Given the description of an element on the screen output the (x, y) to click on. 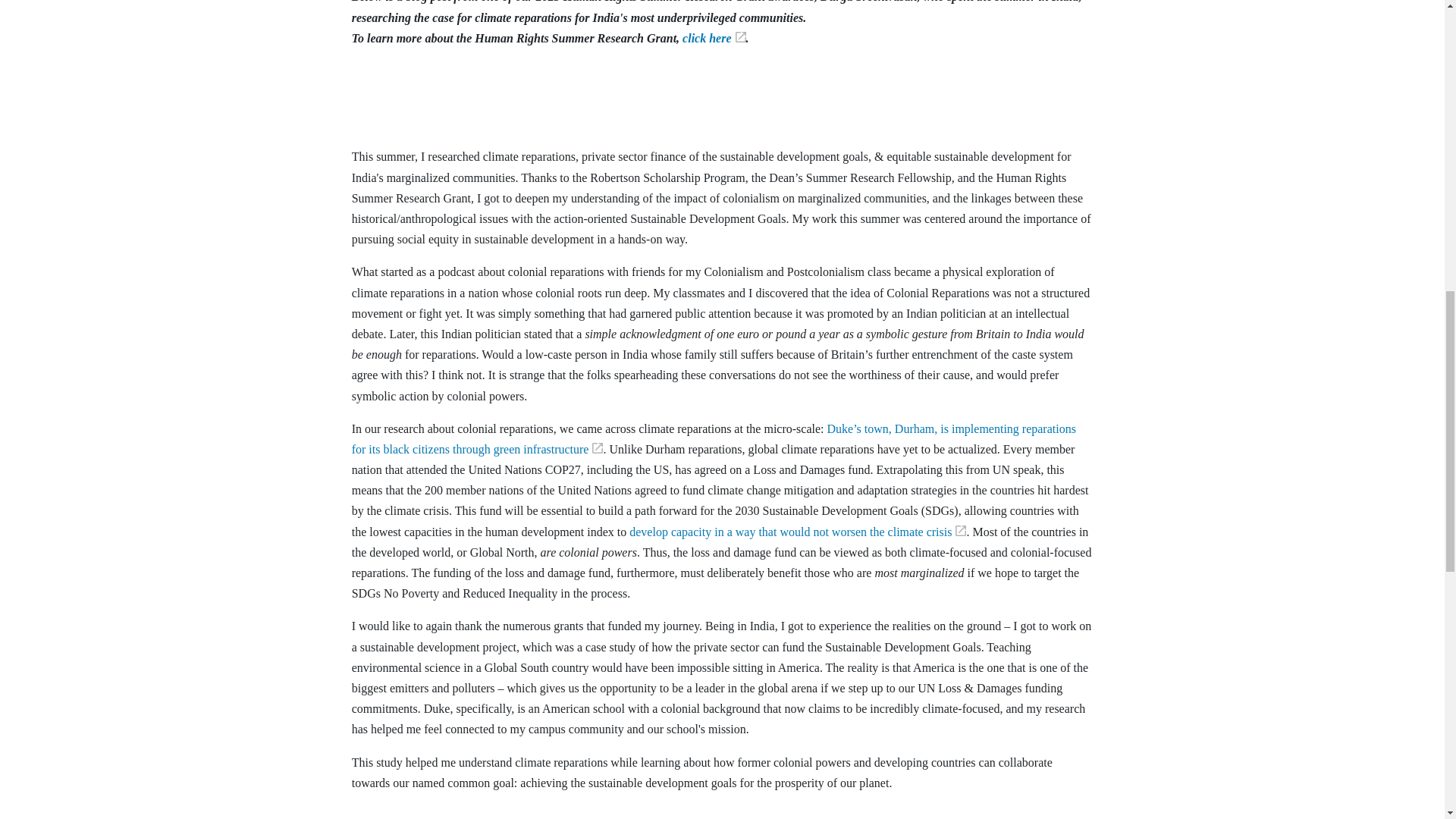
click here (713, 38)
